Given the description of an element on the screen output the (x, y) to click on. 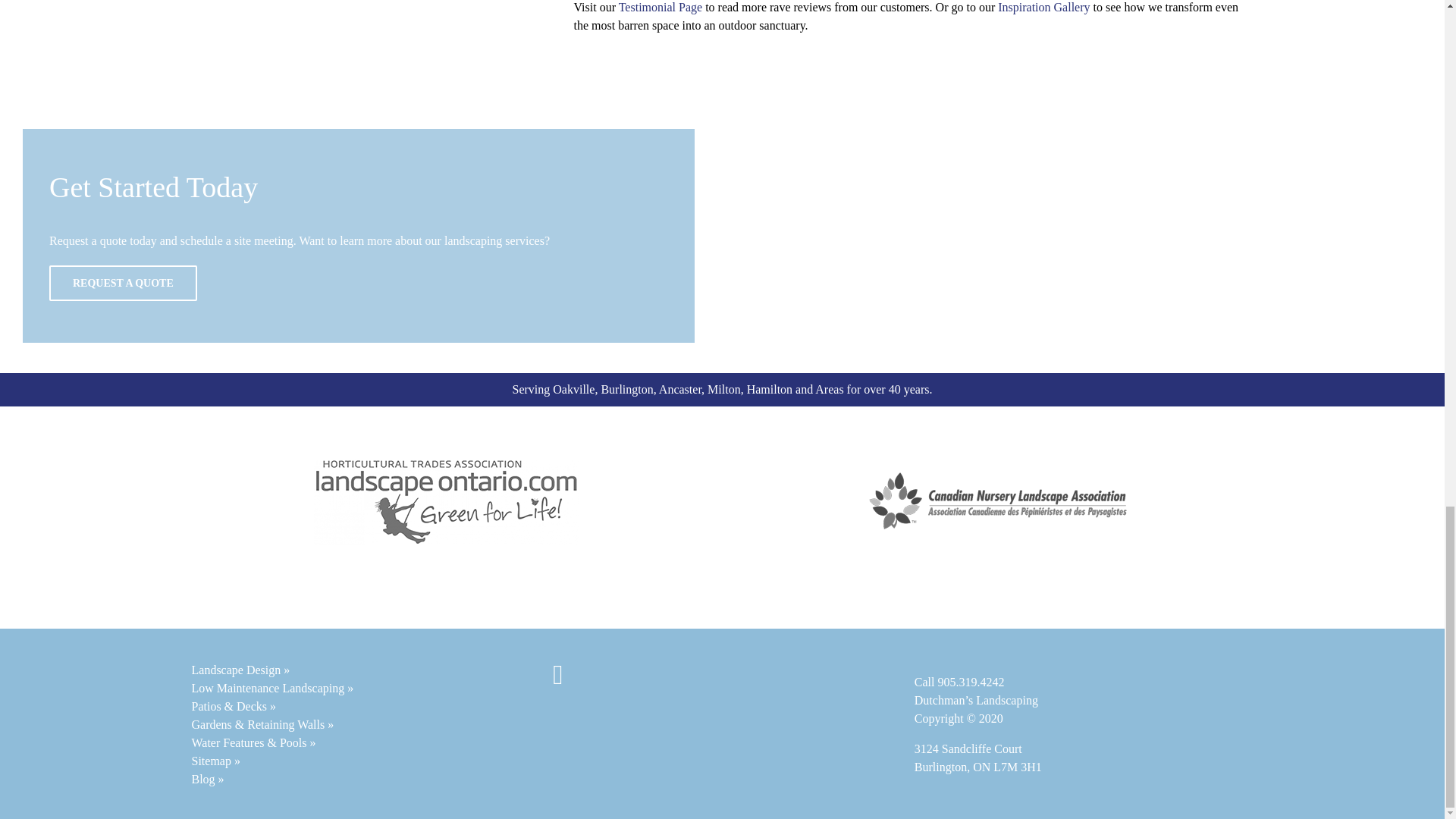
Testimonials (659, 6)
Inspirational Gallery (1043, 6)
